Given the description of an element on the screen output the (x, y) to click on. 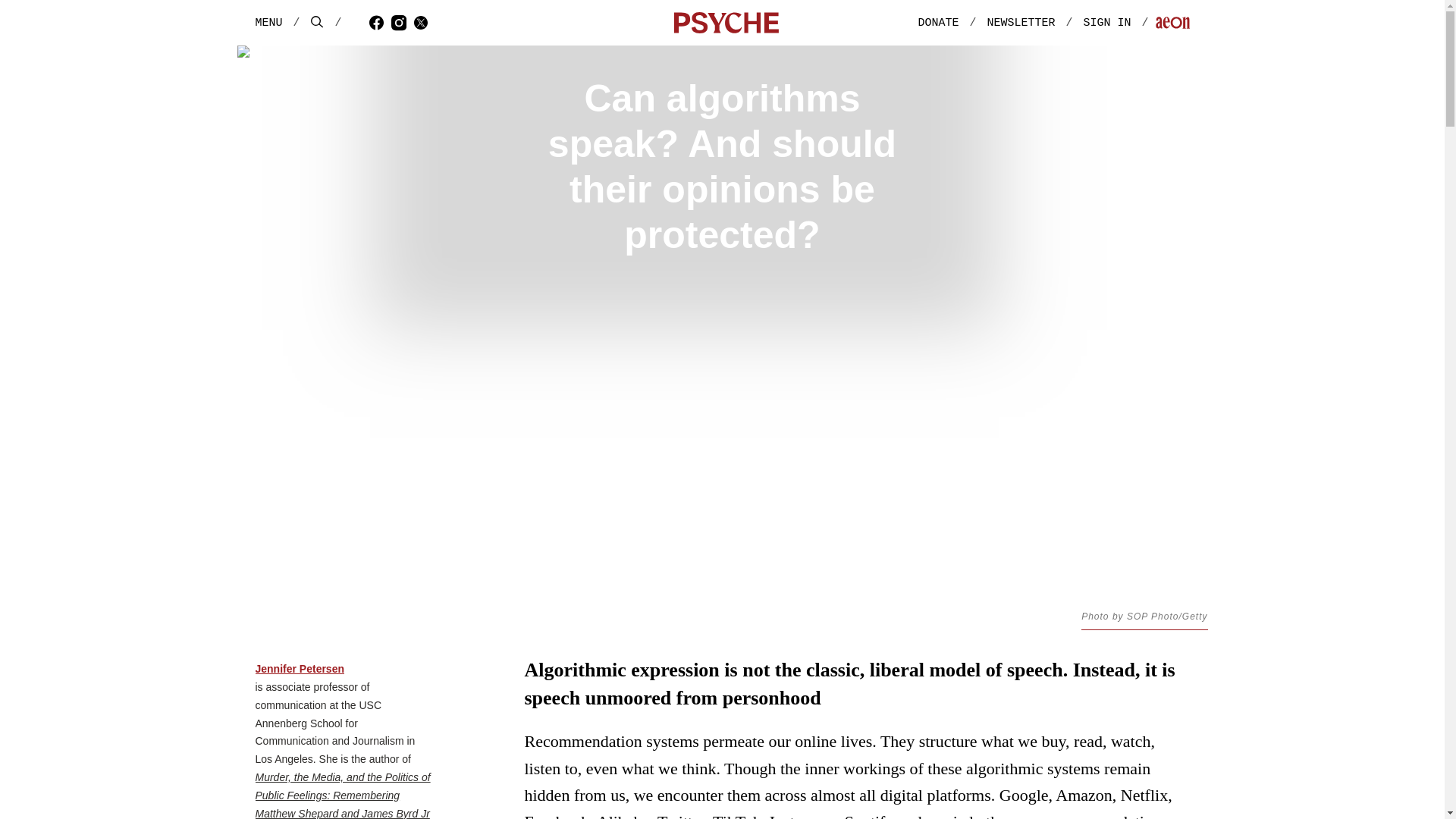
DONATE (937, 23)
Instagram (402, 22)
Sign in (1120, 23)
Facebook (379, 22)
Aeon (1172, 24)
Jennifer Petersen (298, 669)
